Given the description of an element on the screen output the (x, y) to click on. 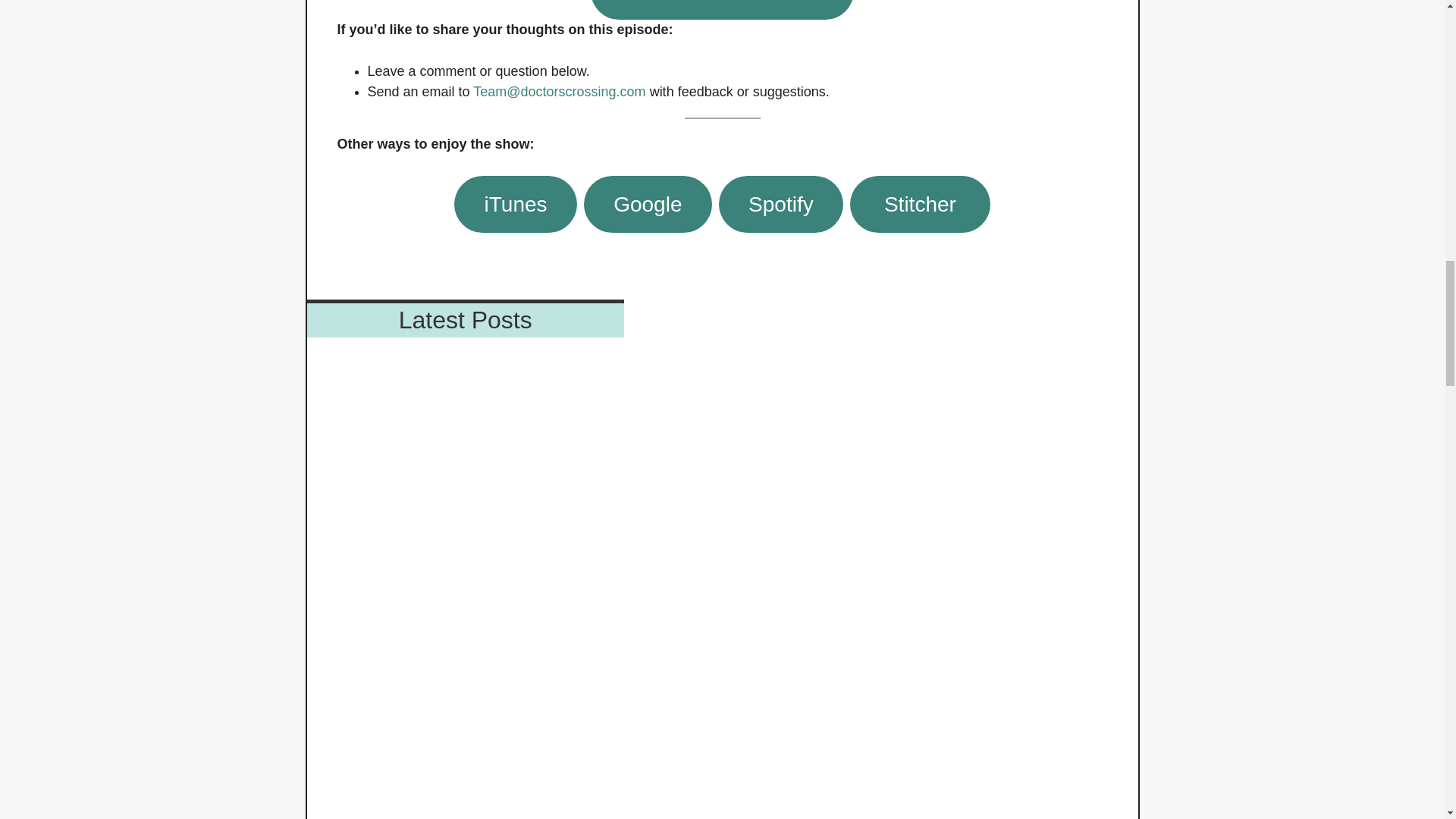
Spotify (781, 204)
Google (647, 204)
Stitcher (920, 204)
iTunes (515, 204)
